Given the description of an element on the screen output the (x, y) to click on. 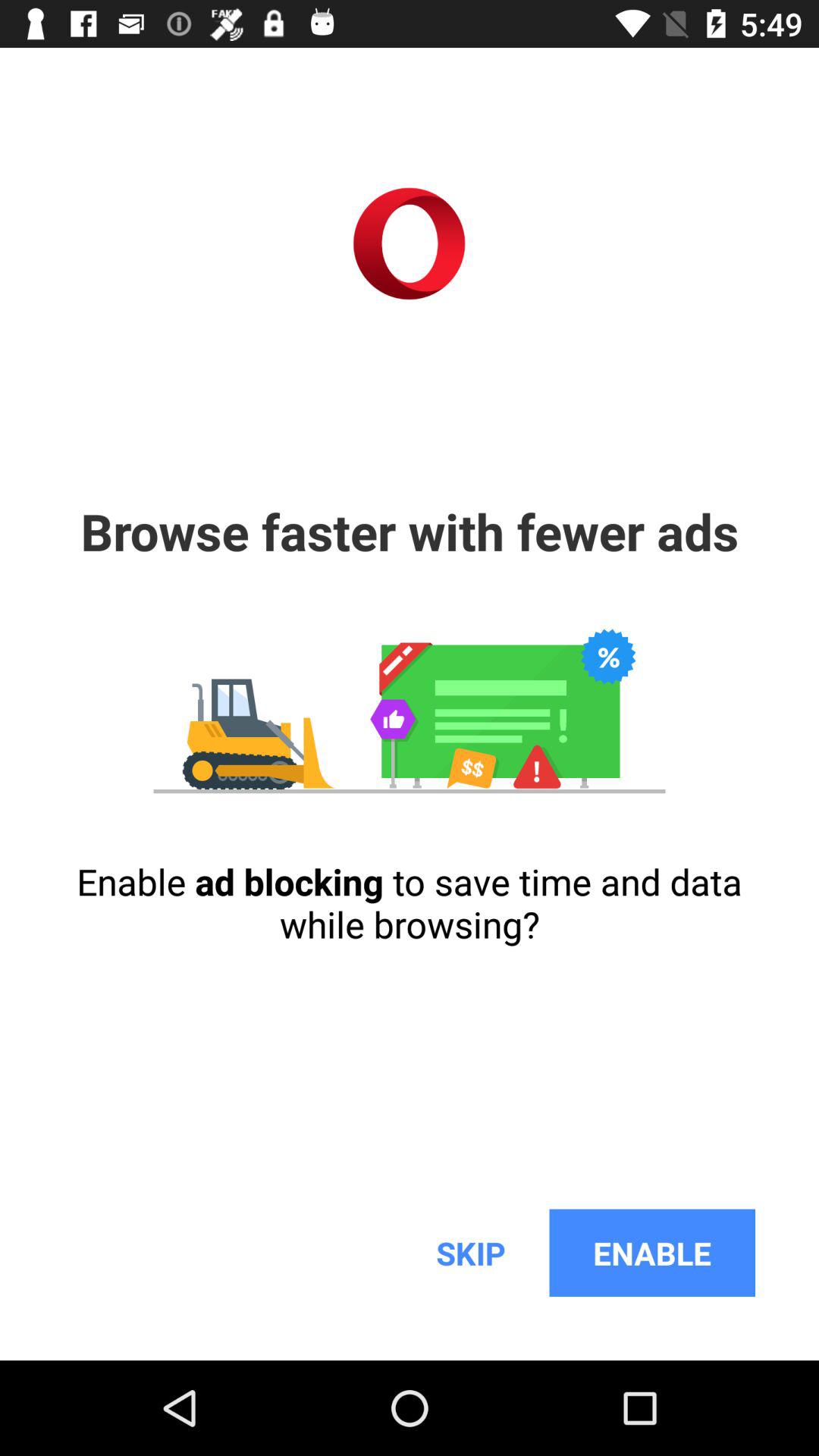
open icon below the enable ad blocking (470, 1252)
